Given the description of an element on the screen output the (x, y) to click on. 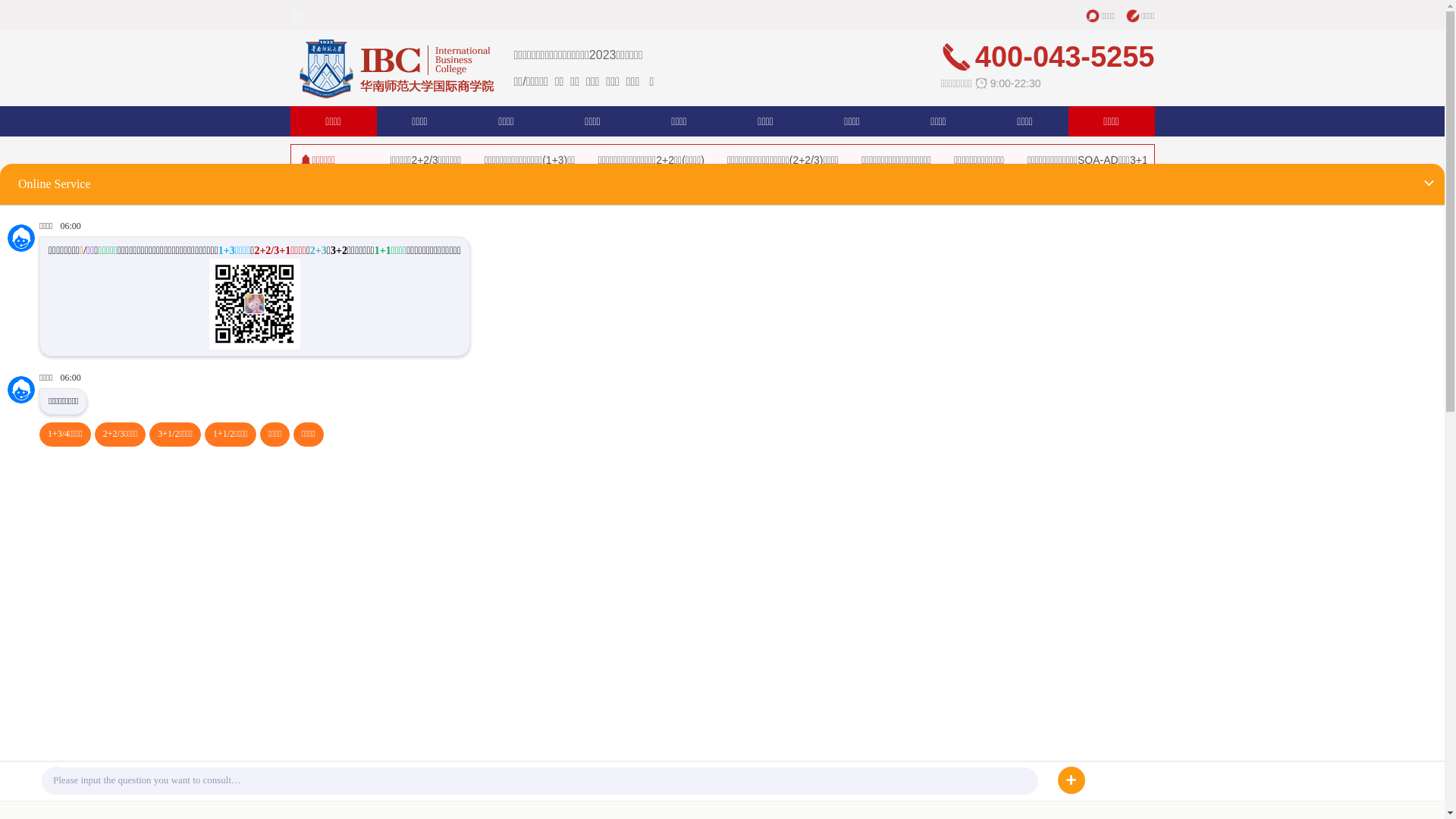
400-043-5255 Element type: text (511, 583)
... Element type: text (1140, 691)
